Given the description of an element on the screen output the (x, y) to click on. 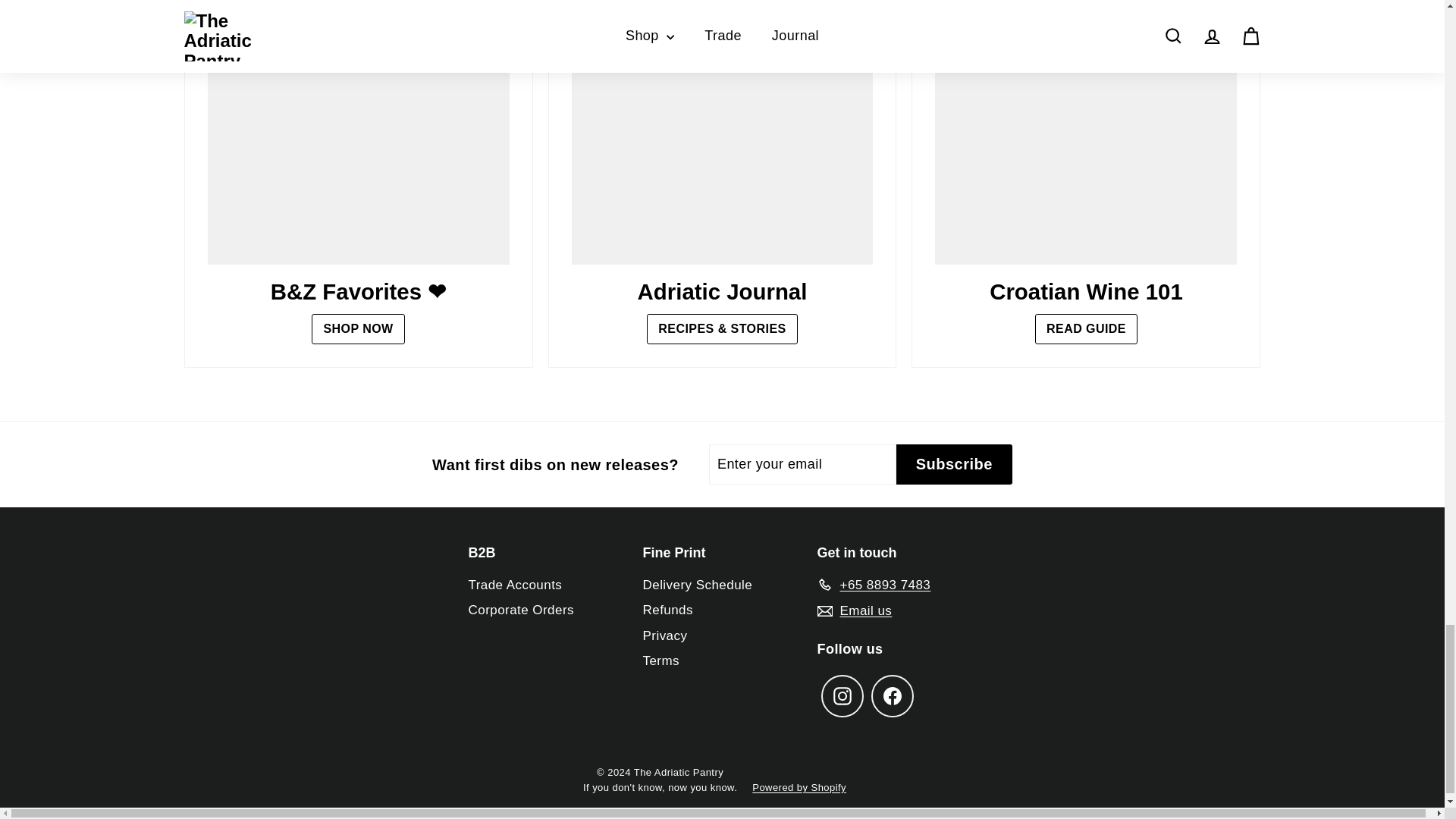
The Adriatic Pantry on Instagram (842, 695)
The Adriatic Pantry on Facebook (891, 695)
instagram (841, 696)
